Given the description of an element on the screen output the (x, y) to click on. 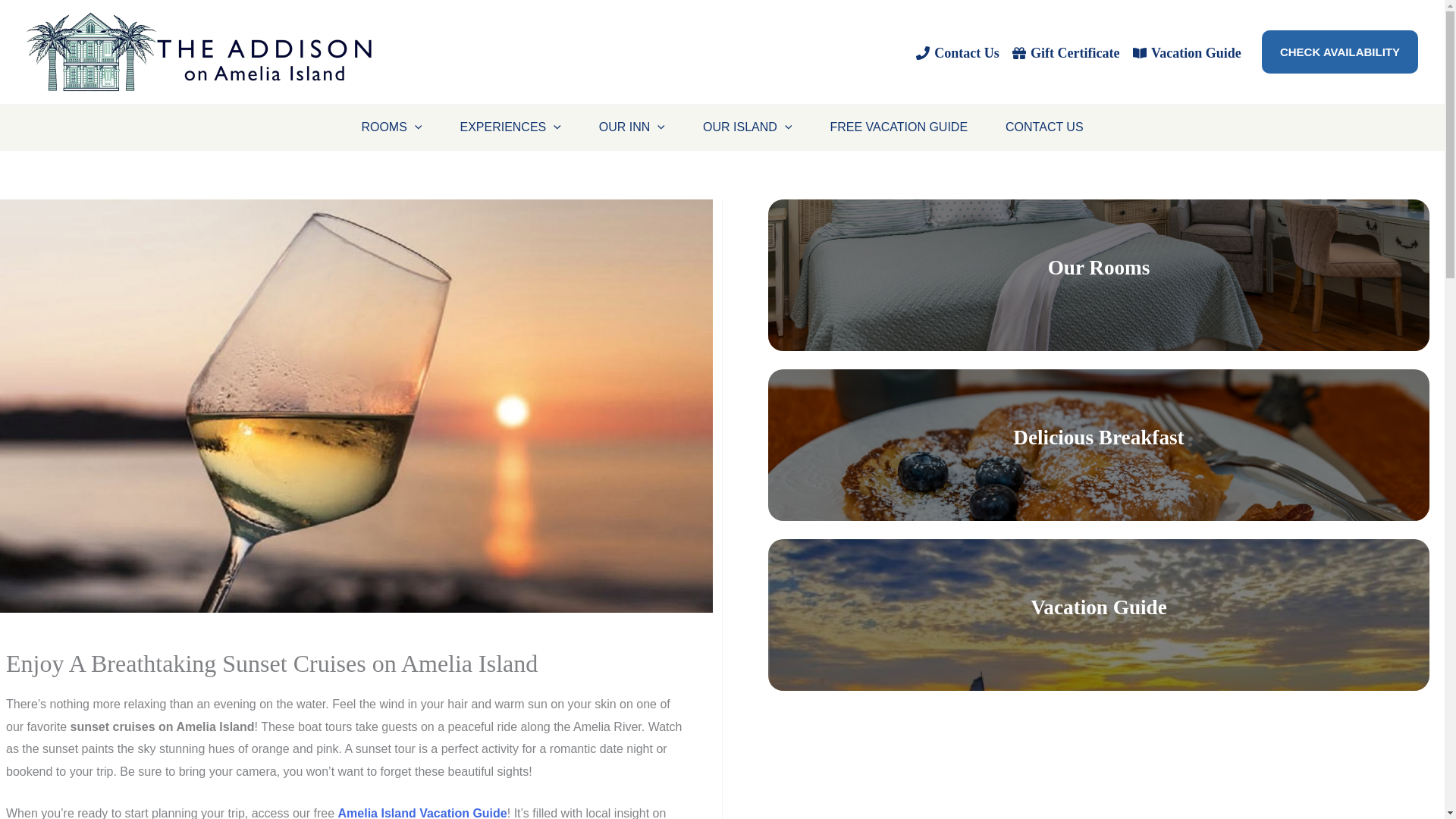
CHECK AVAILABILITY (1340, 52)
Contact Us (957, 52)
OUR INN (631, 126)
EXPERIENCES (510, 126)
Vacation Guide (1186, 52)
OUR ISLAND (747, 126)
FREE VACATION GUIDE (898, 126)
CONTACT US (1044, 126)
Gift Certificate (1066, 52)
ROOMS (391, 126)
